Given the description of an element on the screen output the (x, y) to click on. 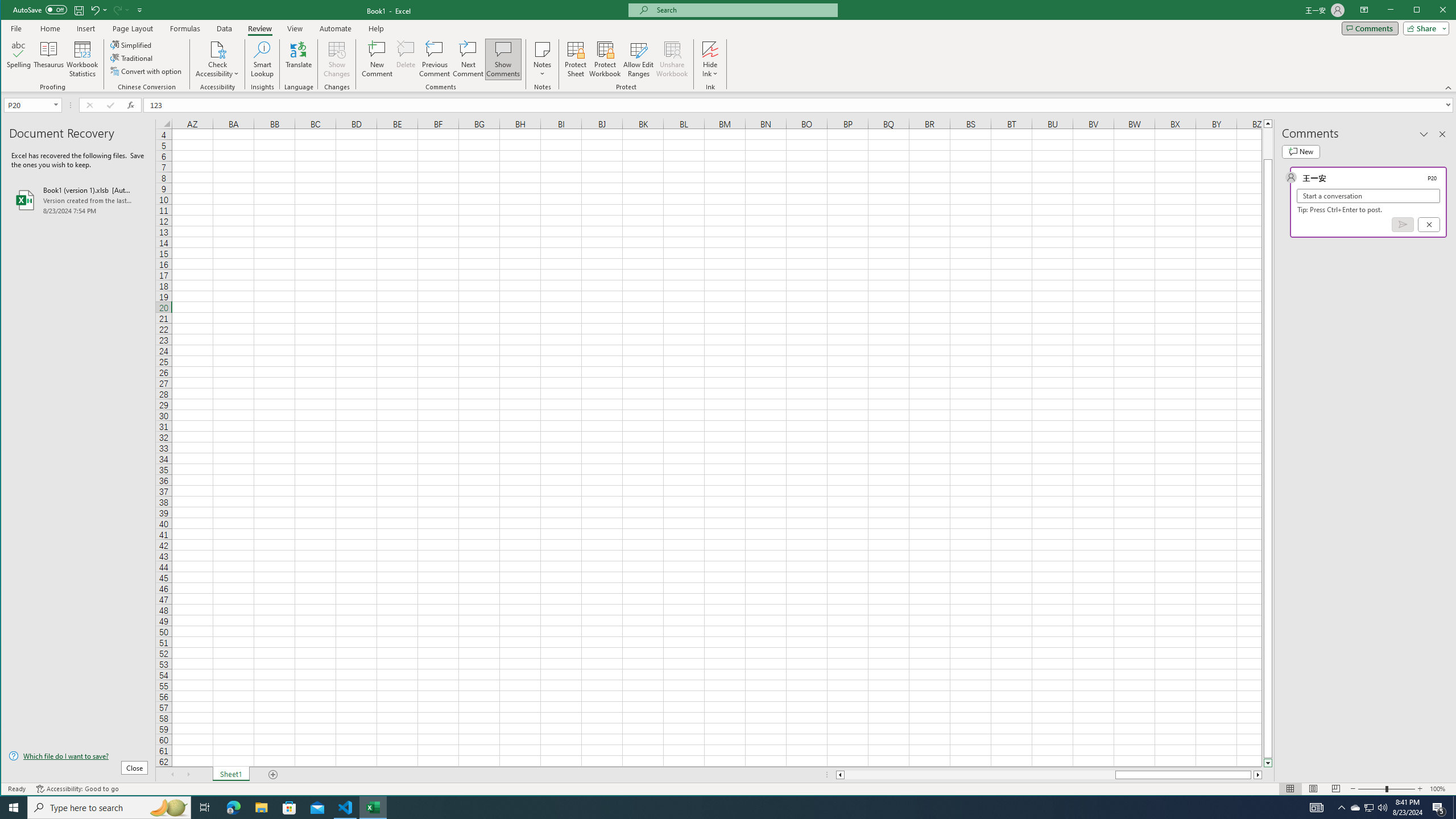
Translate (298, 59)
Type here to search (108, 807)
File Explorer (261, 807)
Start (13, 807)
Smart Lookup (261, 59)
Maximize (1432, 11)
